Given the description of an element on the screen output the (x, y) to click on. 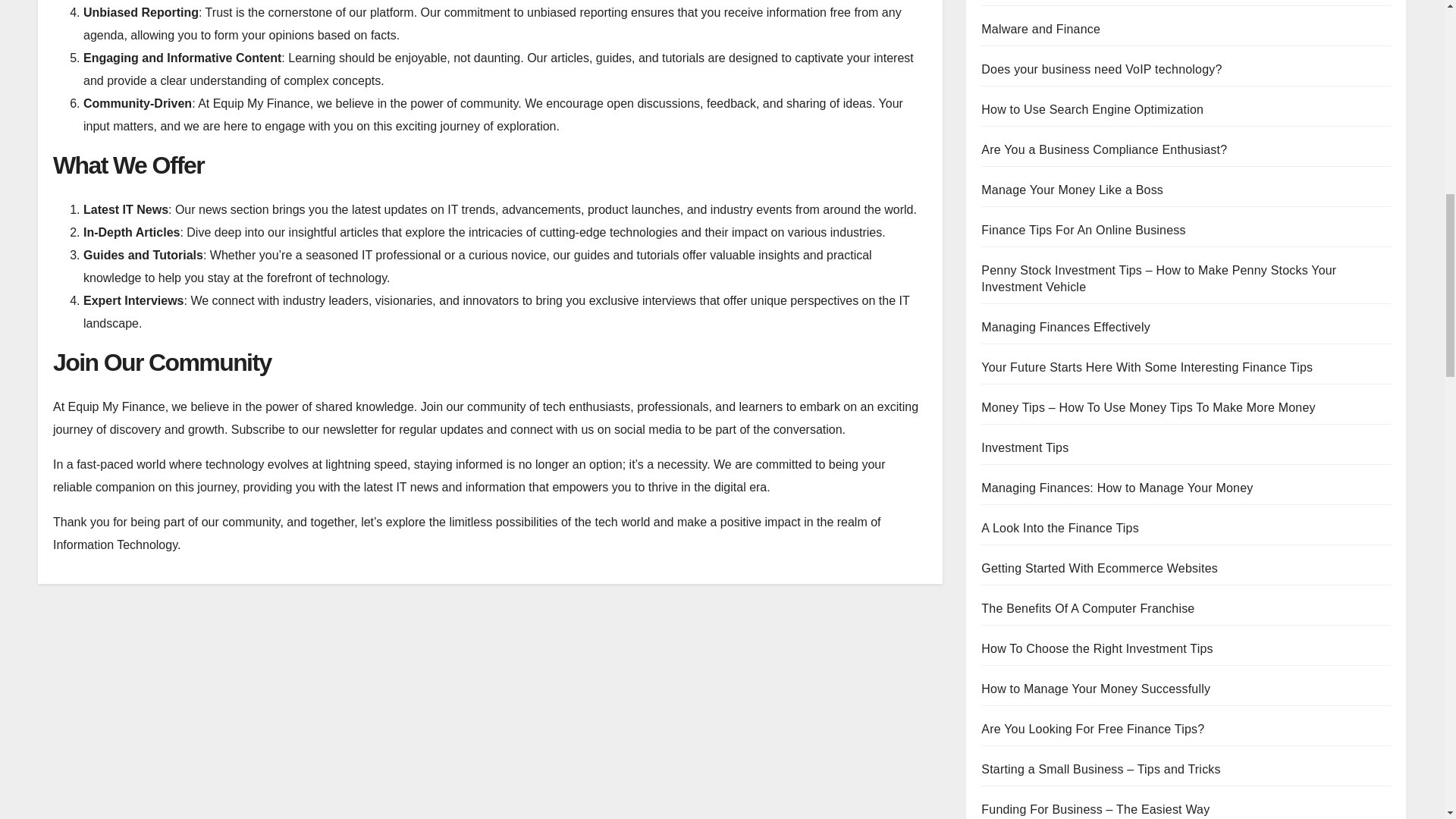
How To Choose the Right Investment Tips (1096, 648)
Managing Finances Effectively (1065, 327)
Getting Started With Ecommerce Websites (1099, 567)
Manage Your Money Like a Boss (1072, 189)
Investment Tips (1024, 447)
Managing Finances: How to Manage Your Money (1116, 487)
The Benefits Of A Computer Franchise (1087, 608)
Are You a Business Compliance Enthusiast? (1104, 149)
How to Use Search Engine Optimization (1092, 109)
Your Future Starts Here With Some Interesting Finance Tips (1147, 367)
Does your business need VoIP technology? (1101, 69)
Finance Tips For An Online Business (1083, 229)
Malware and Finance (1040, 29)
A Look Into the Finance Tips (1059, 527)
